Given the description of an element on the screen output the (x, y) to click on. 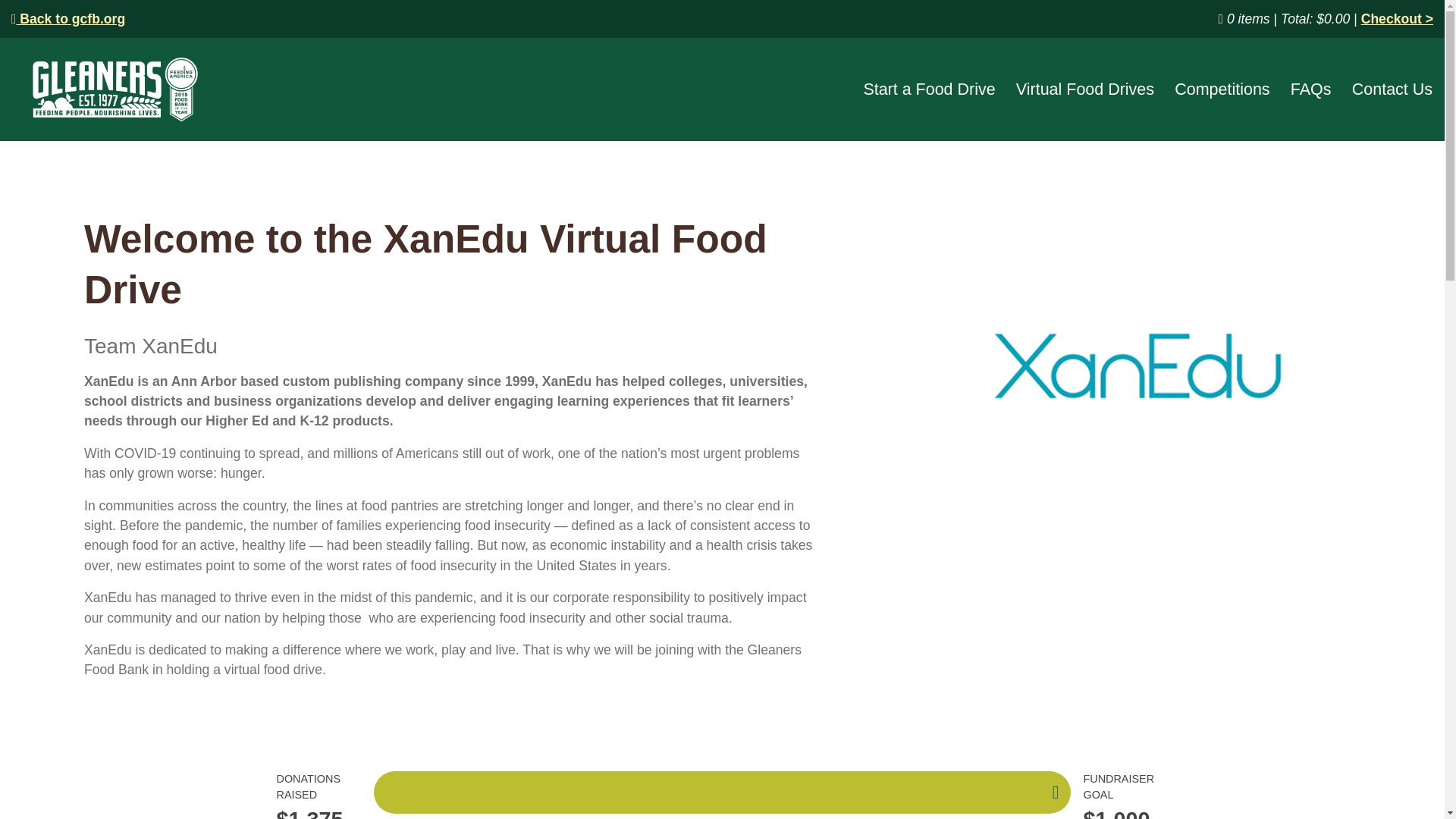
Contact Us (1392, 88)
FAQs (1311, 88)
Competitions (1221, 88)
Start a Food Drive (928, 88)
Virtual Food Drives (1085, 88)
Back to gcfb.org (68, 18)
